Given the description of an element on the screen output the (x, y) to click on. 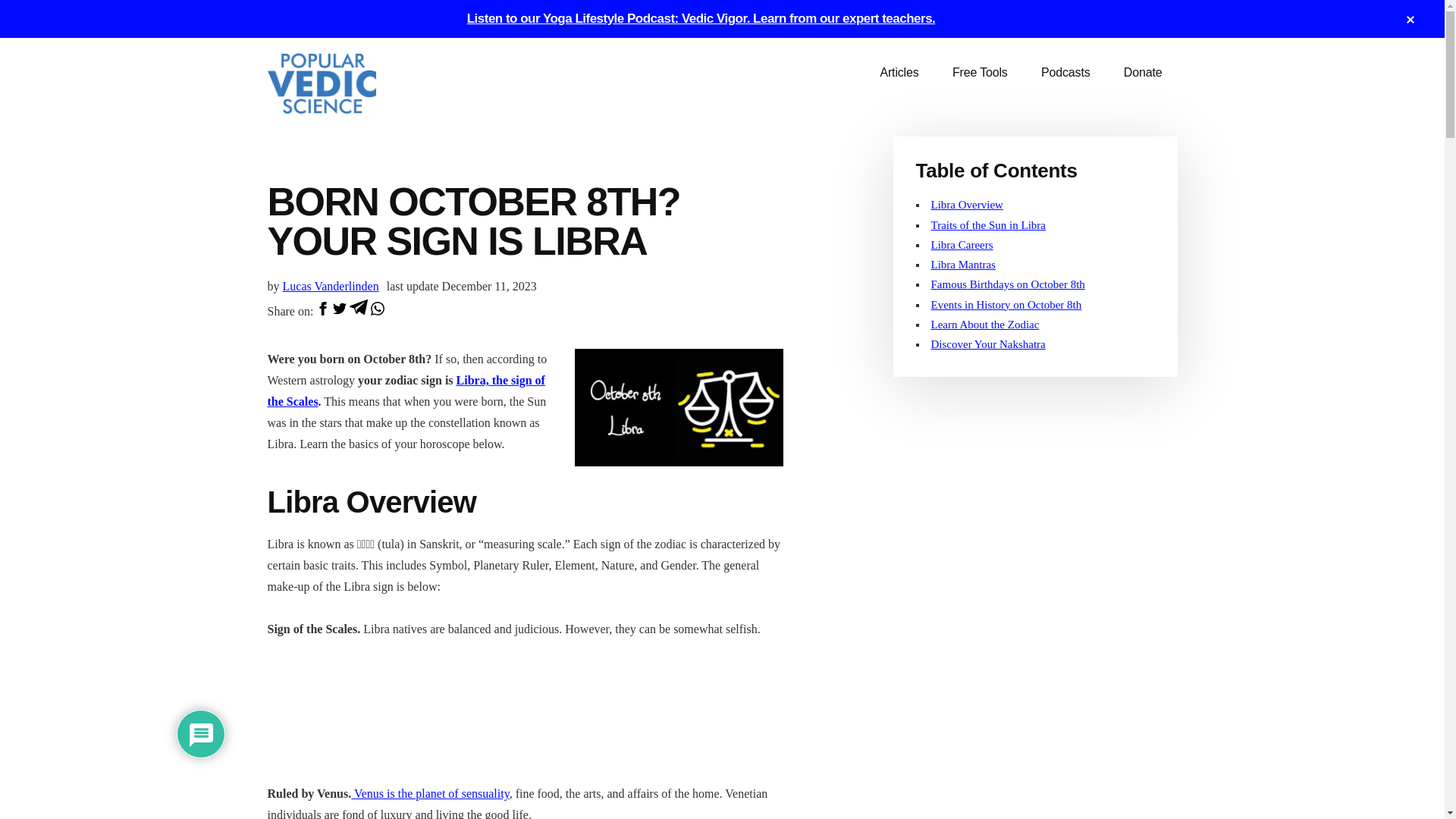
Popular Vedic Science (380, 83)
Lucas Vanderlinden (330, 286)
Podcasts (1065, 72)
Venus is the planet of sensuality (429, 793)
Donate (1142, 72)
Libra, the sign of the Scales (405, 390)
Free Tools (980, 72)
Articles (898, 72)
